Given the description of an element on the screen output the (x, y) to click on. 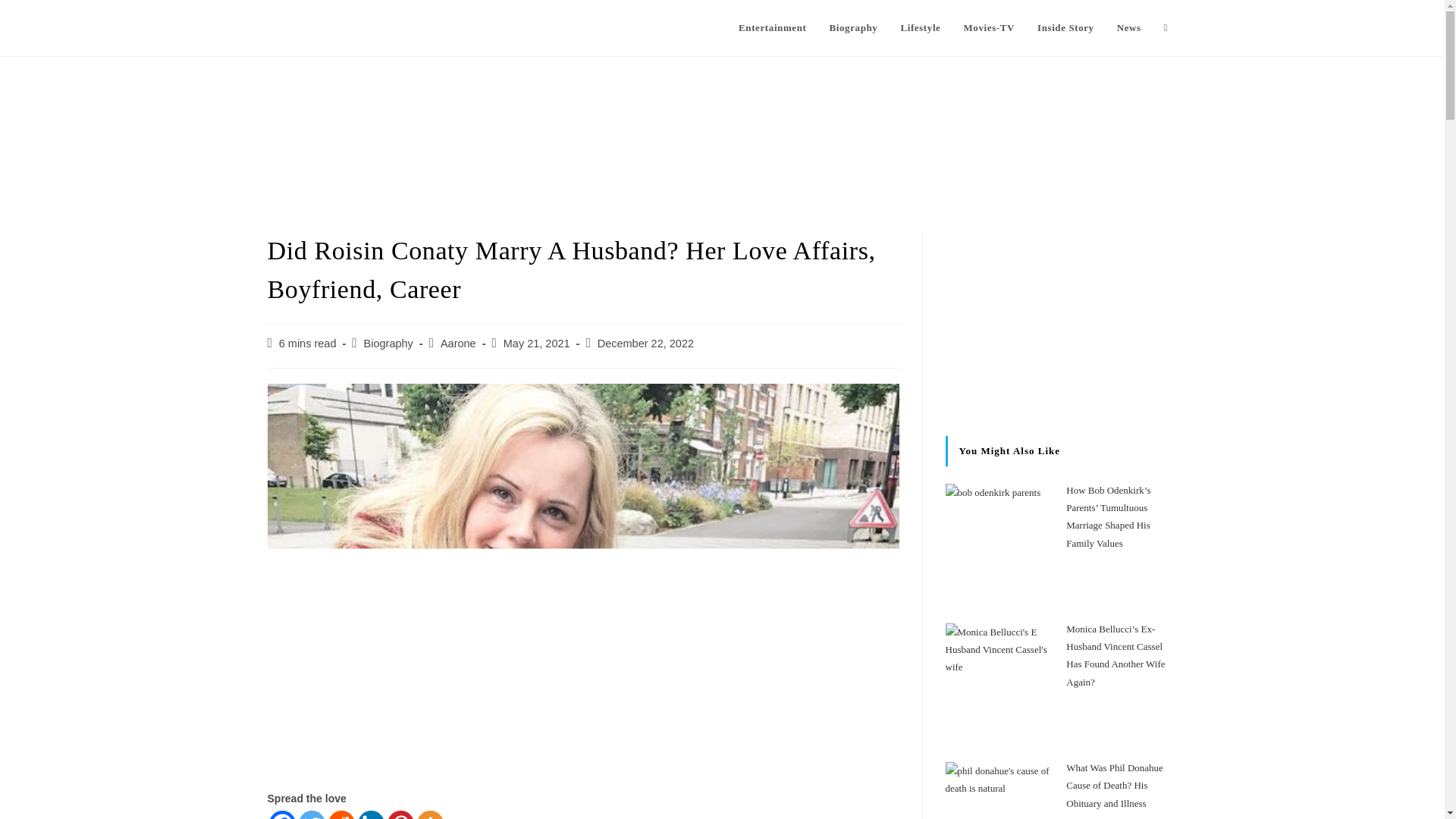
Movies-TV (989, 28)
Posts by Aarone (458, 343)
Twitter (311, 814)
More (430, 814)
CelebSuburb (317, 26)
Biography (852, 28)
Pinterest (400, 814)
Entertainment (771, 28)
Inside Story (1065, 28)
Facebook (281, 814)
